Given the description of an element on the screen output the (x, y) to click on. 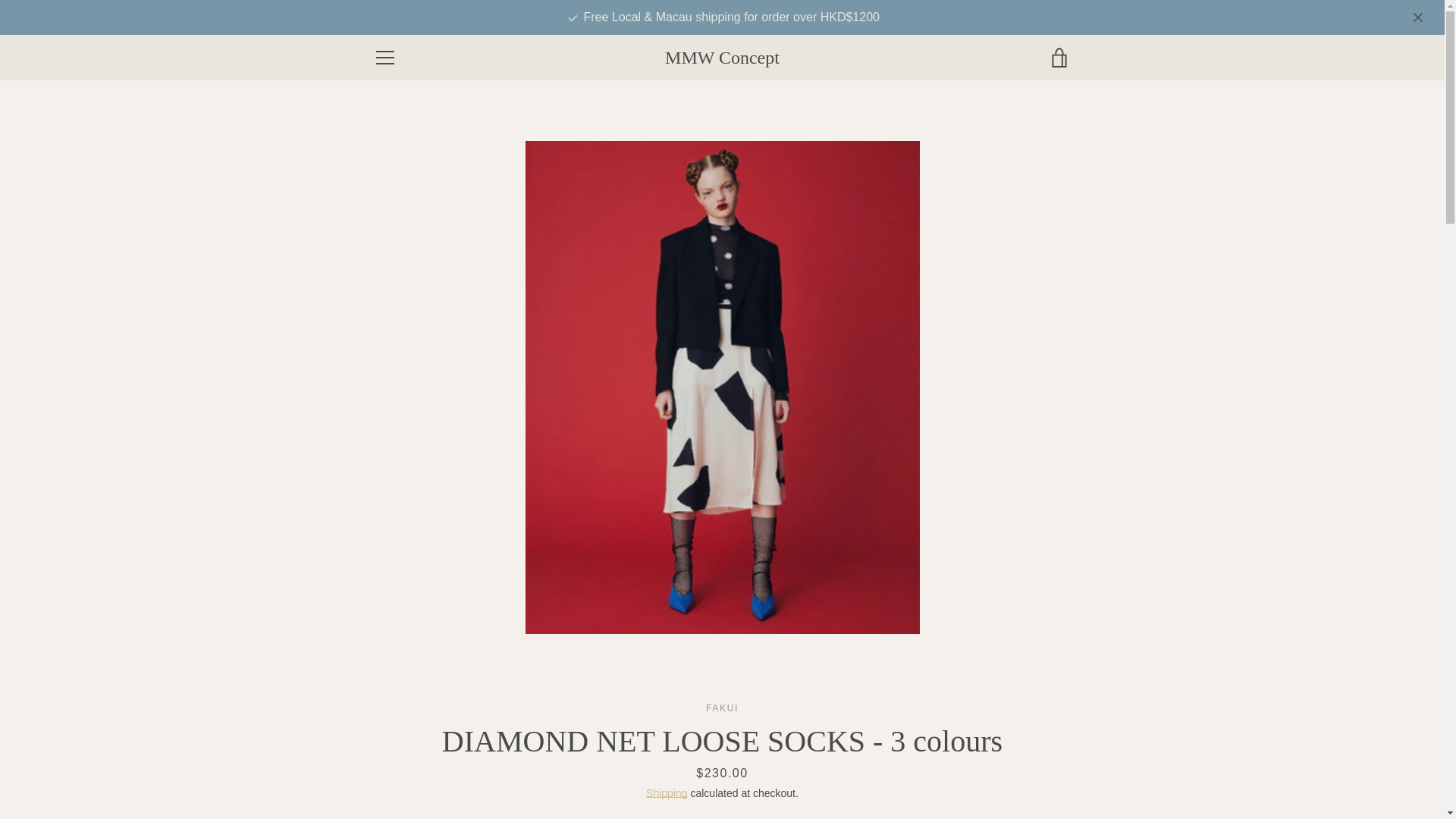
Visa (1057, 769)
Shop Pay (988, 769)
Mastercard (953, 769)
Google Pay (918, 769)
Union Pay (1022, 769)
MMW Concept on Instagram (399, 768)
Apple Pay (883, 769)
MMW Concept on Facebook (372, 768)
MENU (384, 57)
